Given the description of an element on the screen output the (x, y) to click on. 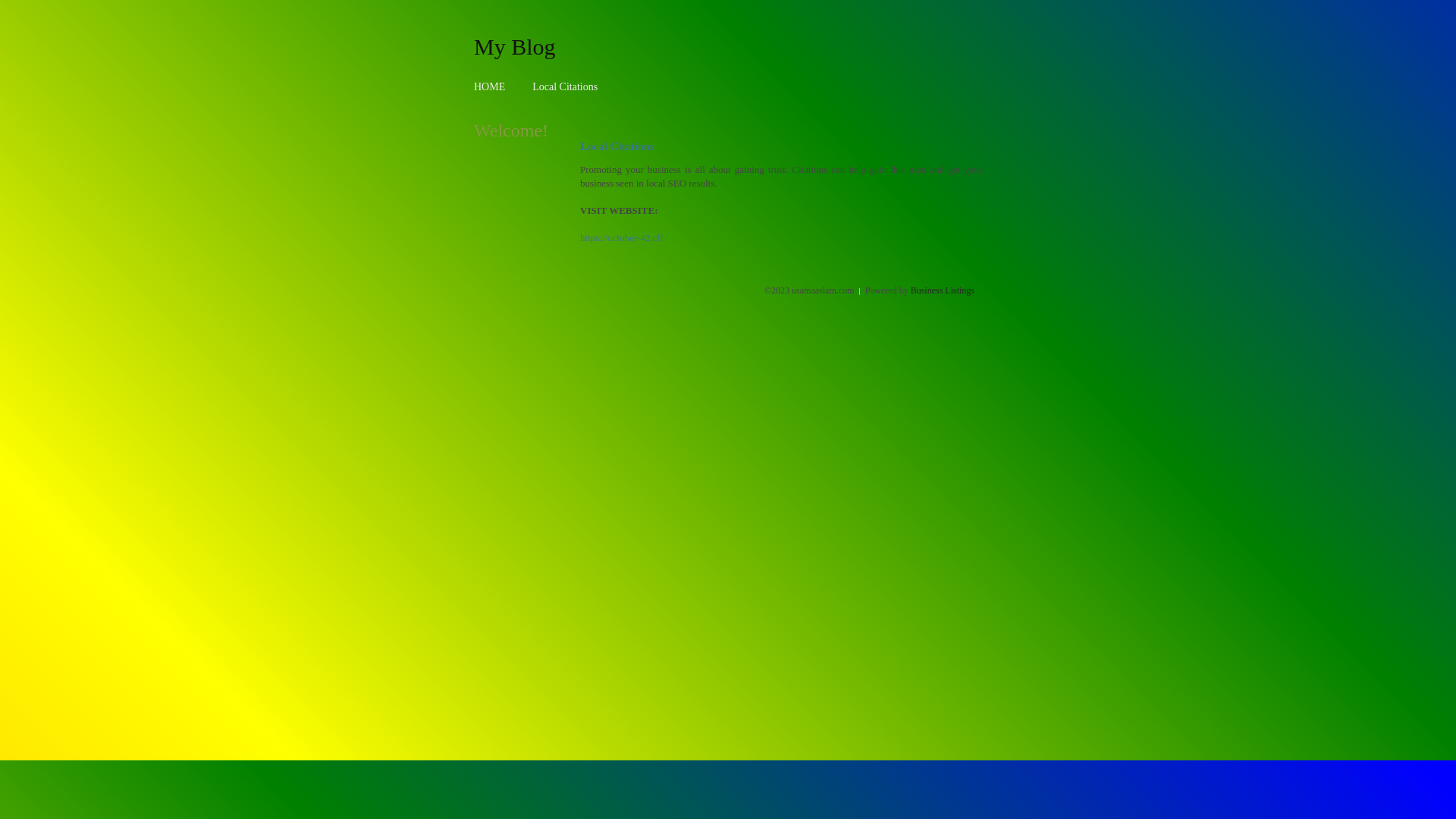
My Blog Element type: text (514, 46)
Local Citations Element type: text (564, 86)
Business Listings Element type: text (942, 290)
HOME Element type: text (489, 86)
https://october-42.cf/ Element type: text (621, 237)
